Given the description of an element on the screen output the (x, y) to click on. 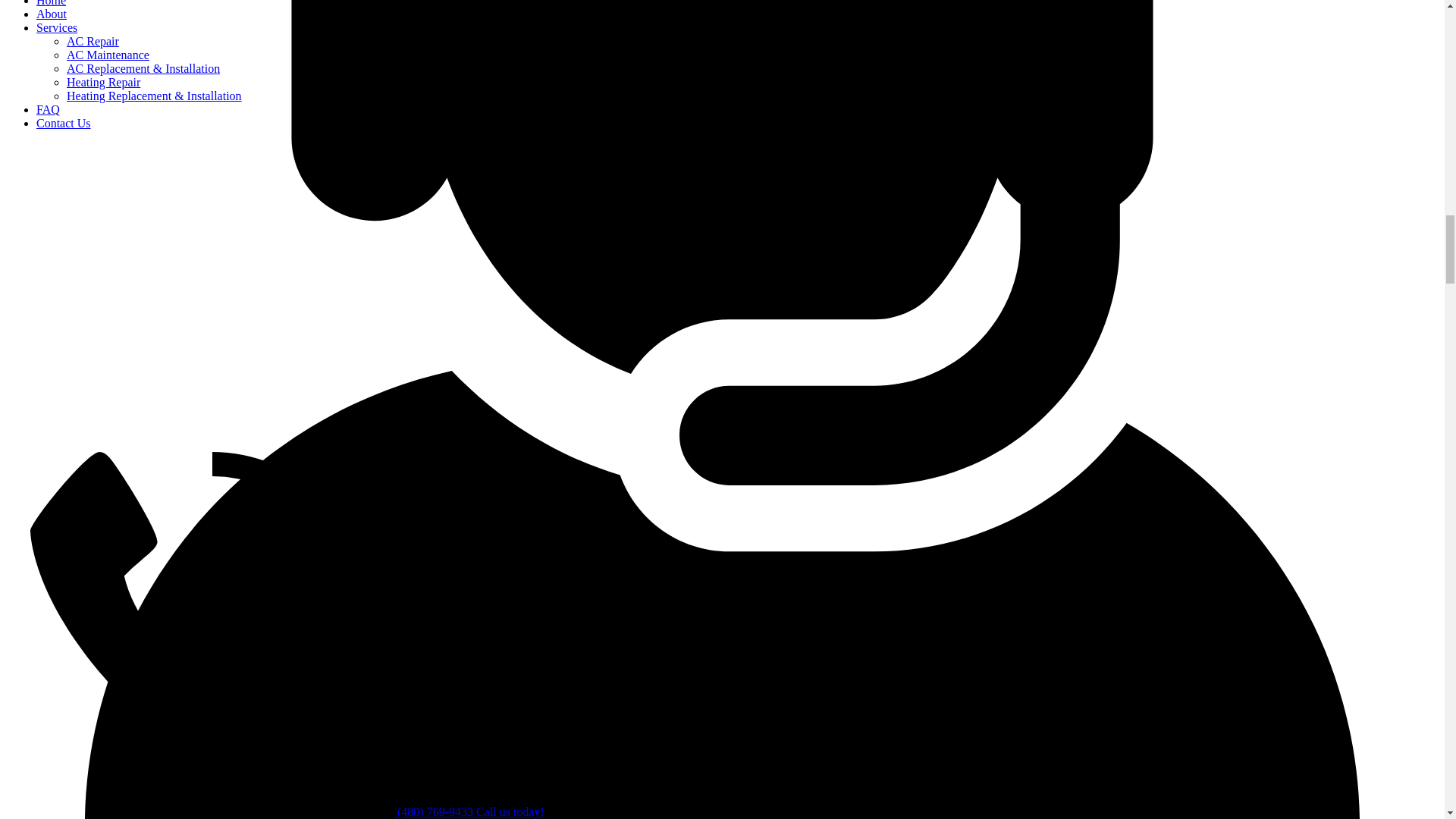
AC Repair (92, 41)
AC Maintenance (107, 54)
Contact Us (63, 123)
Heating Repair (102, 82)
Home (50, 3)
FAQ (47, 109)
About (51, 13)
Services (56, 27)
